Given the description of an element on the screen output the (x, y) to click on. 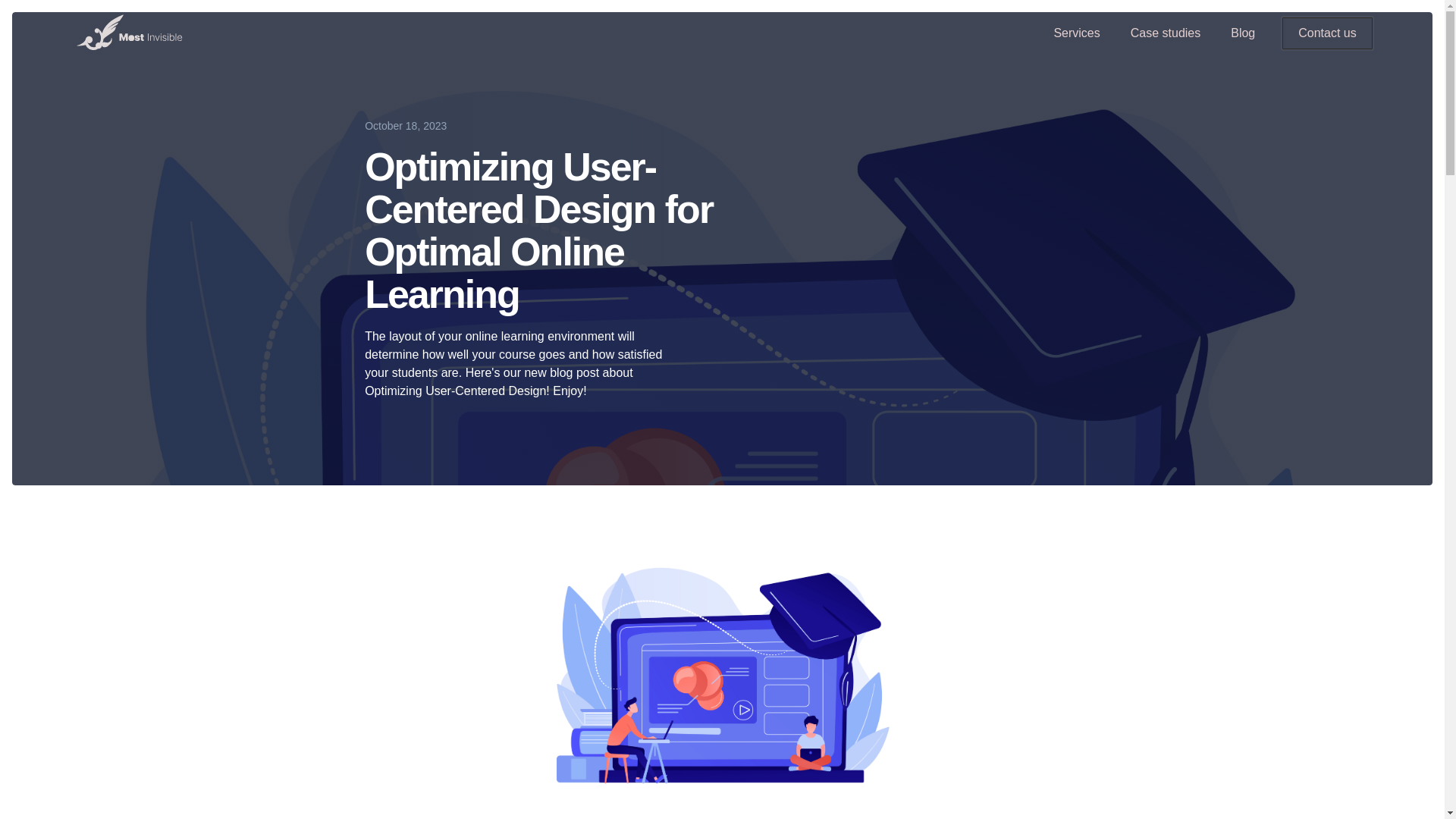
Blog (1242, 32)
Services (1076, 32)
Case studies (1165, 32)
Contact us (1326, 32)
